Given the description of an element on the screen output the (x, y) to click on. 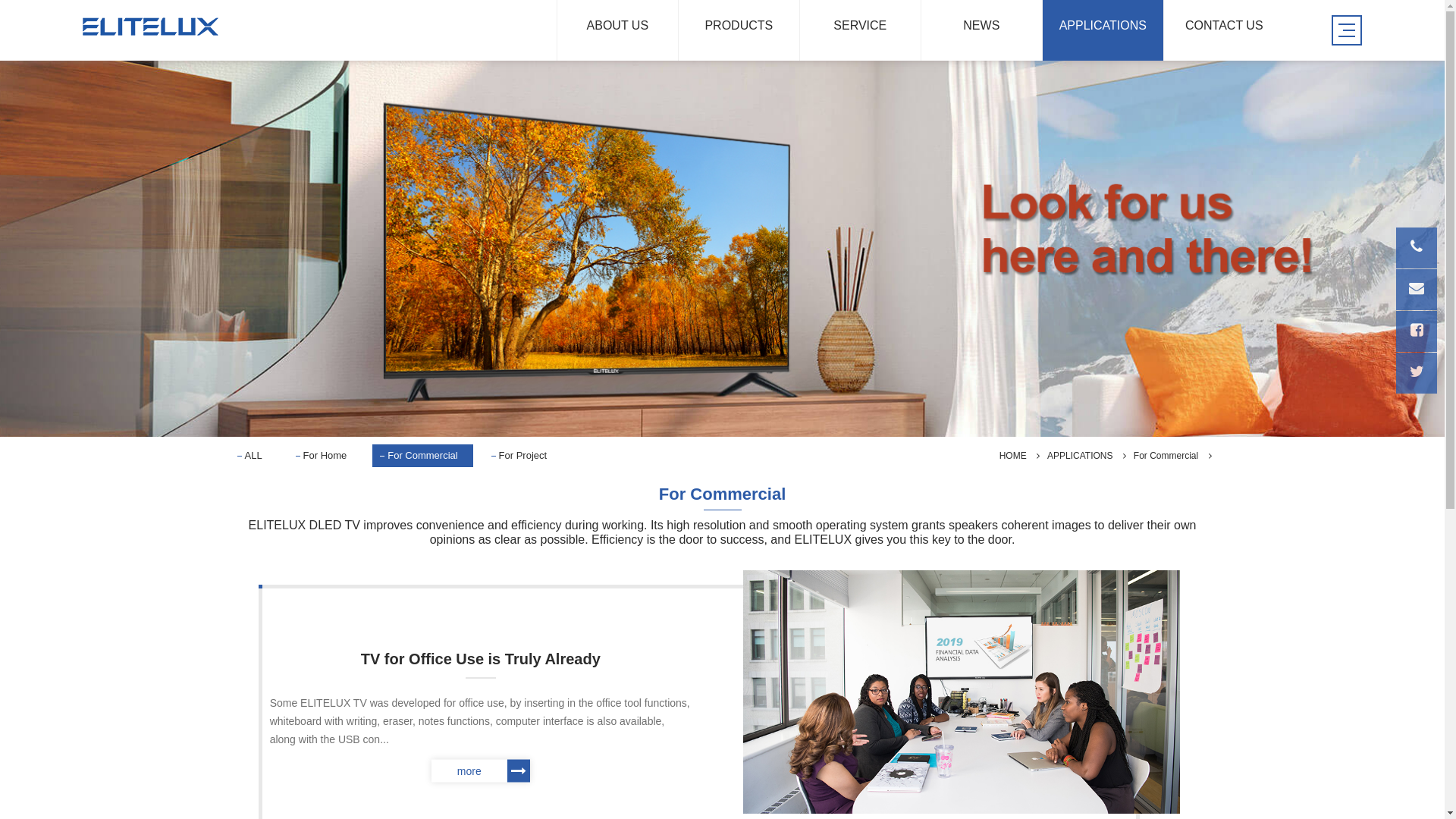
For Project Element type: text (522, 455)
For Home Element type: text (325, 455)
SERVICE Element type: text (860, 30)
ALL Element type: text (252, 455)
APPLICATIONS Element type: text (1079, 455)
For Commercial Element type: text (422, 455)
EMAIL Element type: hover (1416, 289)
TV for Office Use is Truly Already Element type: text (480, 657)
more Element type: text (480, 770)
For Commercial Element type: text (1165, 455)
APPLICATIONS Element type: text (1102, 30)
PRODUCTS Element type: text (738, 30)
CONTACT US Element type: text (1224, 30)
NEWS Element type: text (981, 30)
TV for Office Use is Truly Already Element type: hover (961, 690)
ELITELUX TV Element type: hover (150, 26)
ABOUT US Element type: text (617, 30)
1300-388-324 Element type: hover (1416, 247)
TWITTER Element type: hover (1416, 372)
HOME Element type: text (1012, 455)
www.facebook.com Element type: hover (1416, 330)
